Given the description of an element on the screen output the (x, y) to click on. 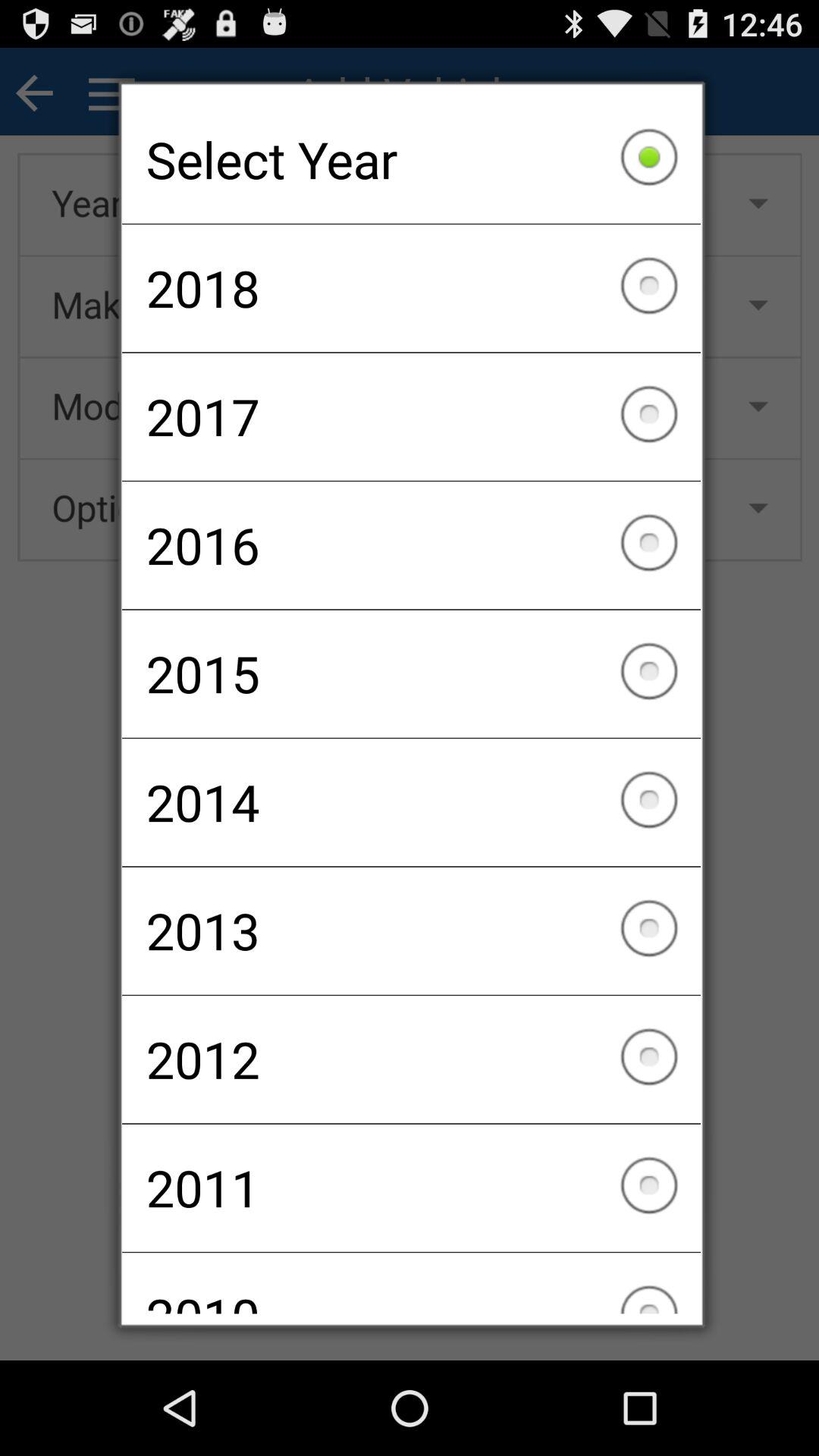
flip to select year item (411, 159)
